Given the description of an element on the screen output the (x, y) to click on. 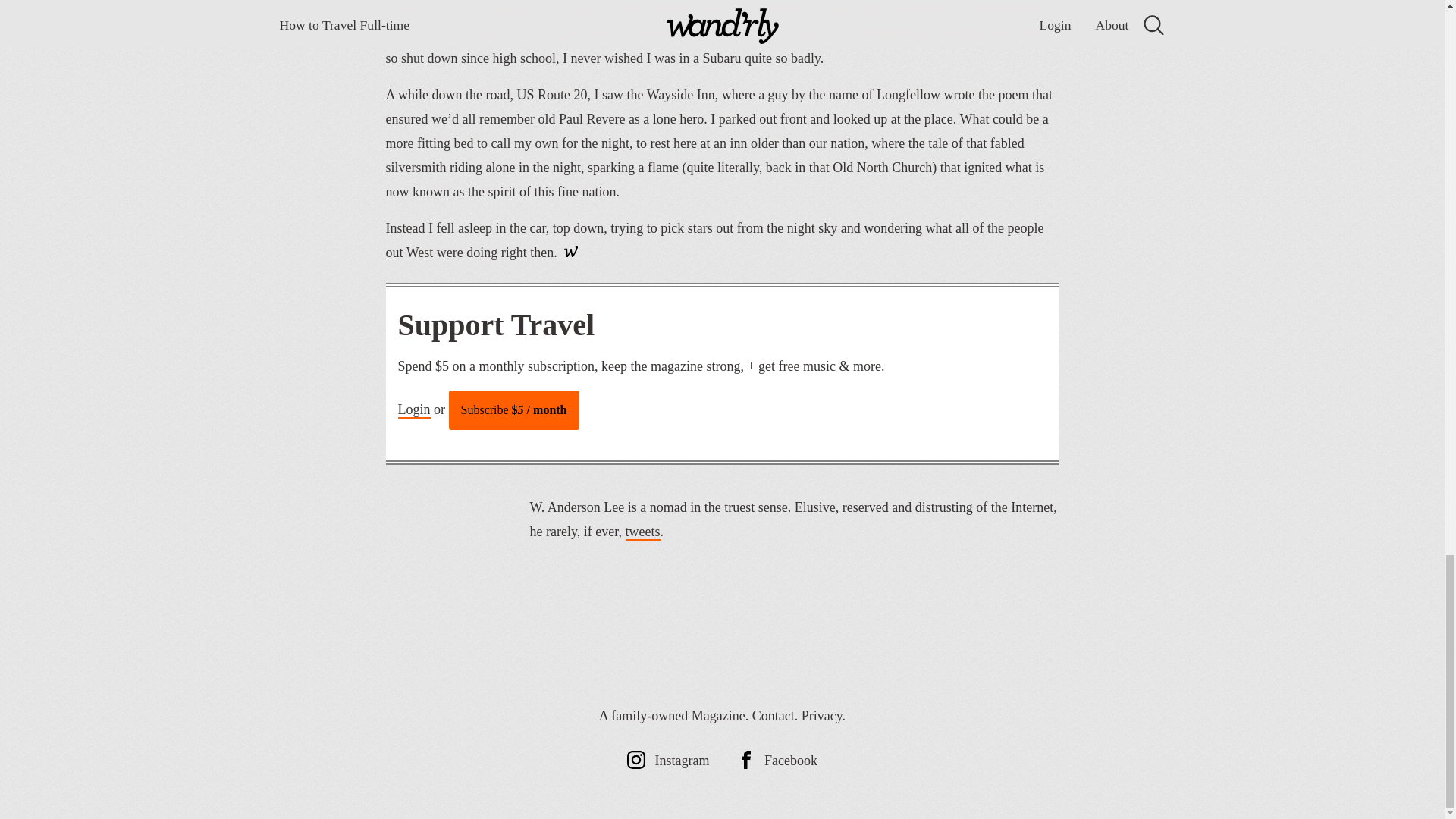
Contact. (774, 715)
Facebook (776, 760)
Privacy. (823, 715)
A family-owned Magazine. (673, 715)
Login (413, 410)
tweets (643, 532)
Instagram (668, 760)
